Given the description of an element on the screen output the (x, y) to click on. 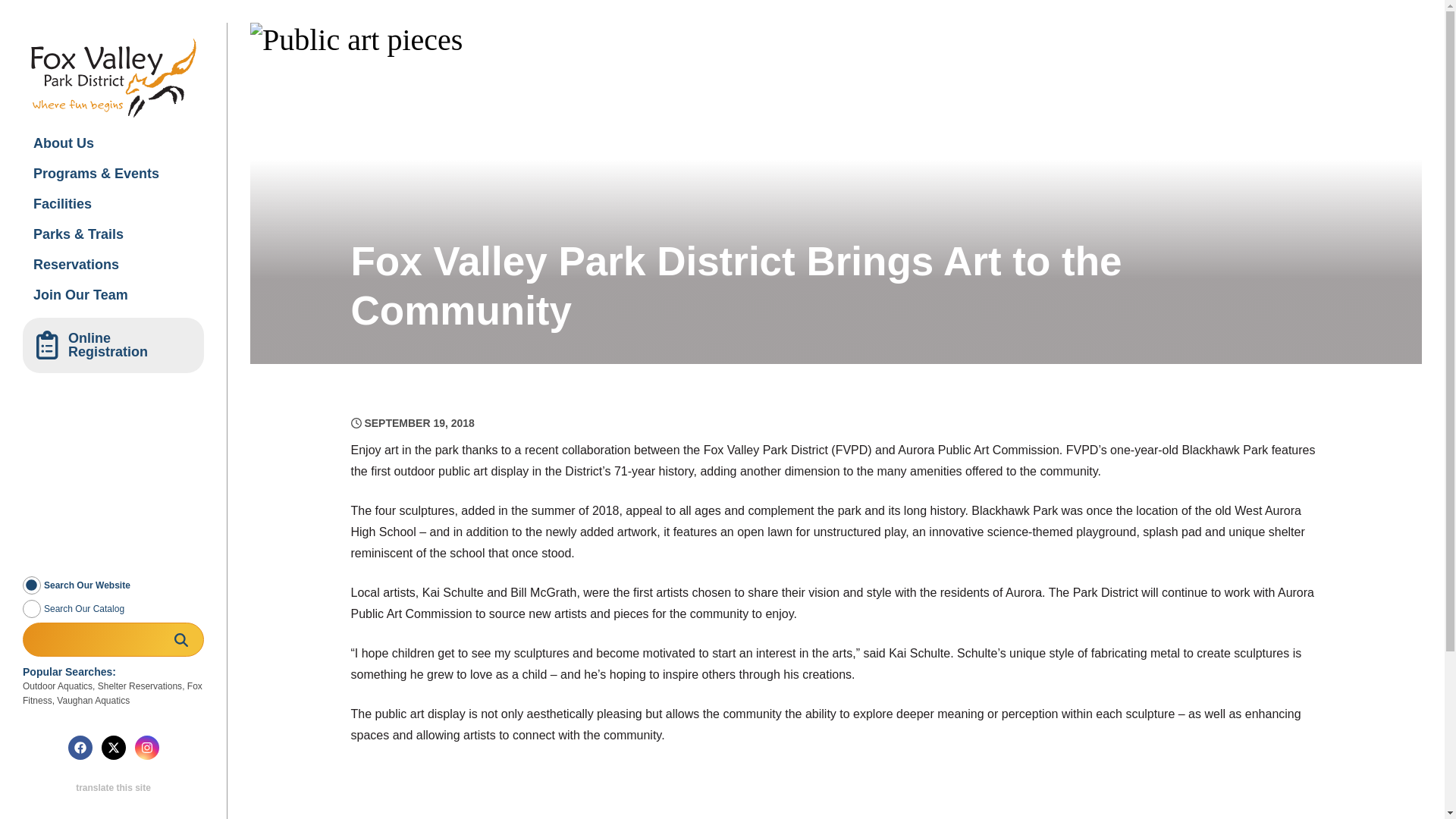
website (31, 585)
Search for: (113, 639)
catalog (31, 608)
website (31, 585)
catalog (31, 608)
About Us (113, 142)
